Given the description of an element on the screen output the (x, y) to click on. 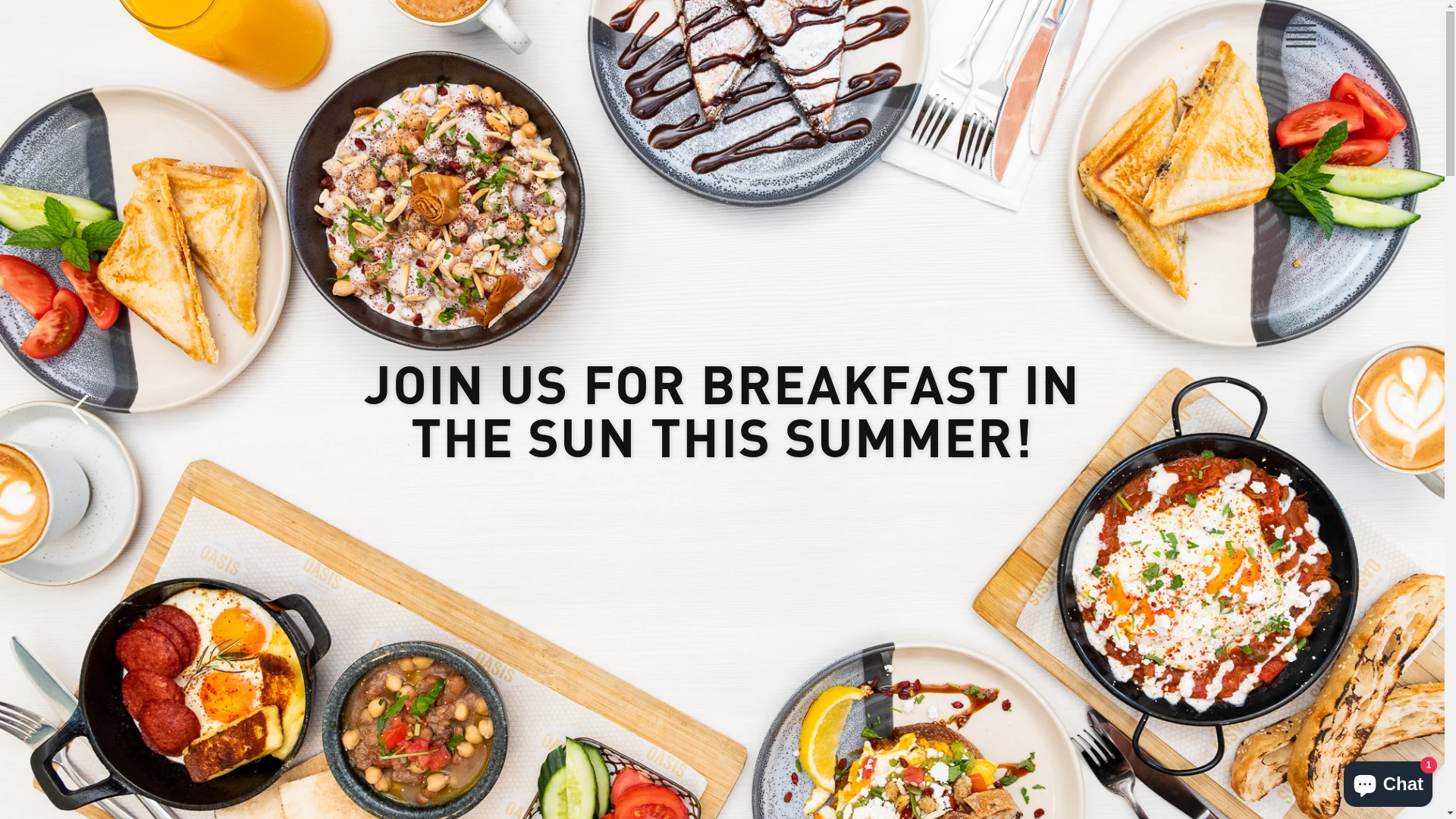
2 Element type: text (1408, 400)
3 Element type: text (1408, 425)
Shopify online store chat Element type: hover (1388, 780)
1 Element type: text (1408, 376)
4 Element type: text (1408, 449)
